Given the description of an element on the screen output the (x, y) to click on. 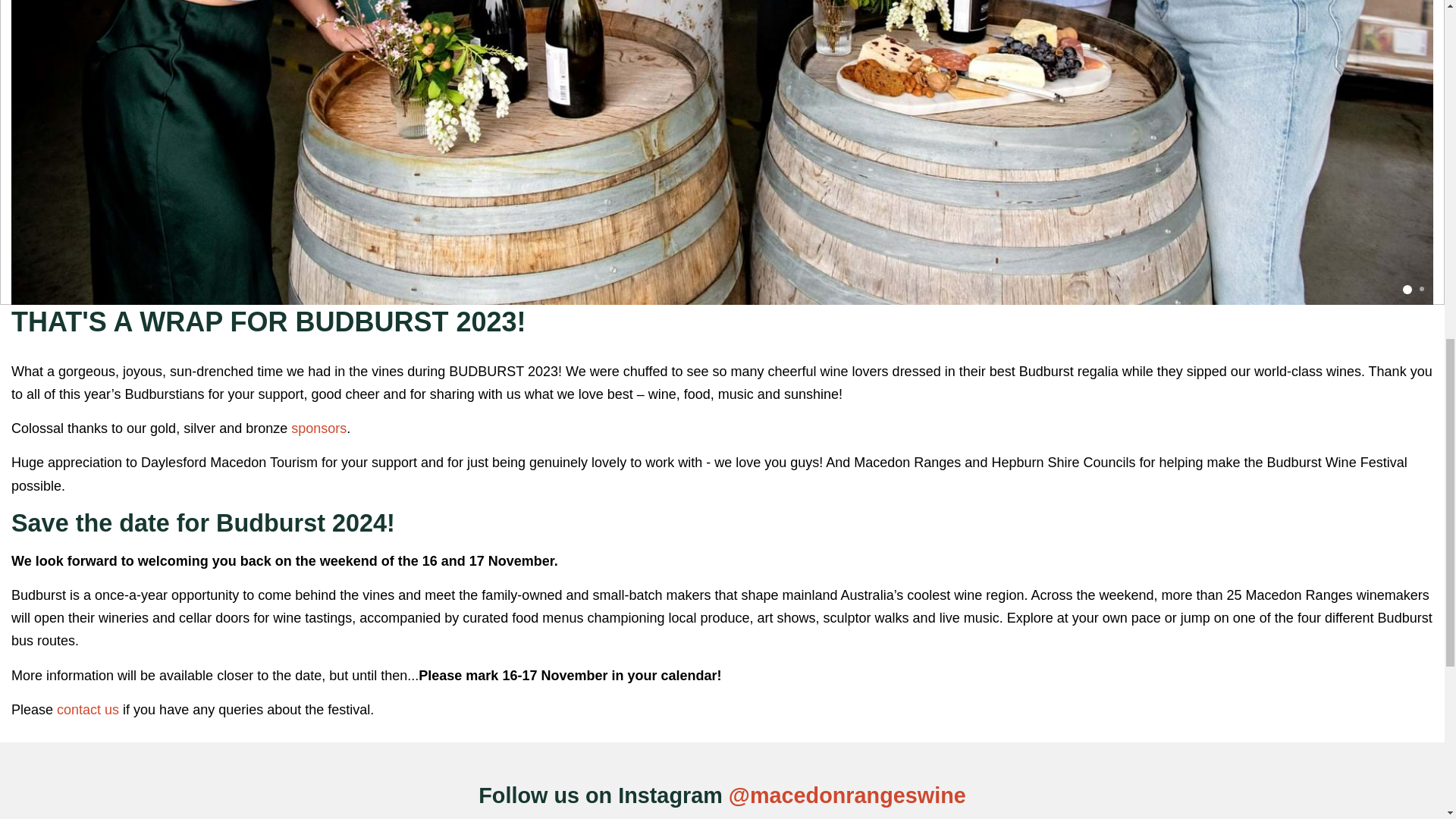
sponsors (318, 427)
contact us (87, 709)
macedonrangeswine (857, 794)
